Given the description of an element on the screen output the (x, y) to click on. 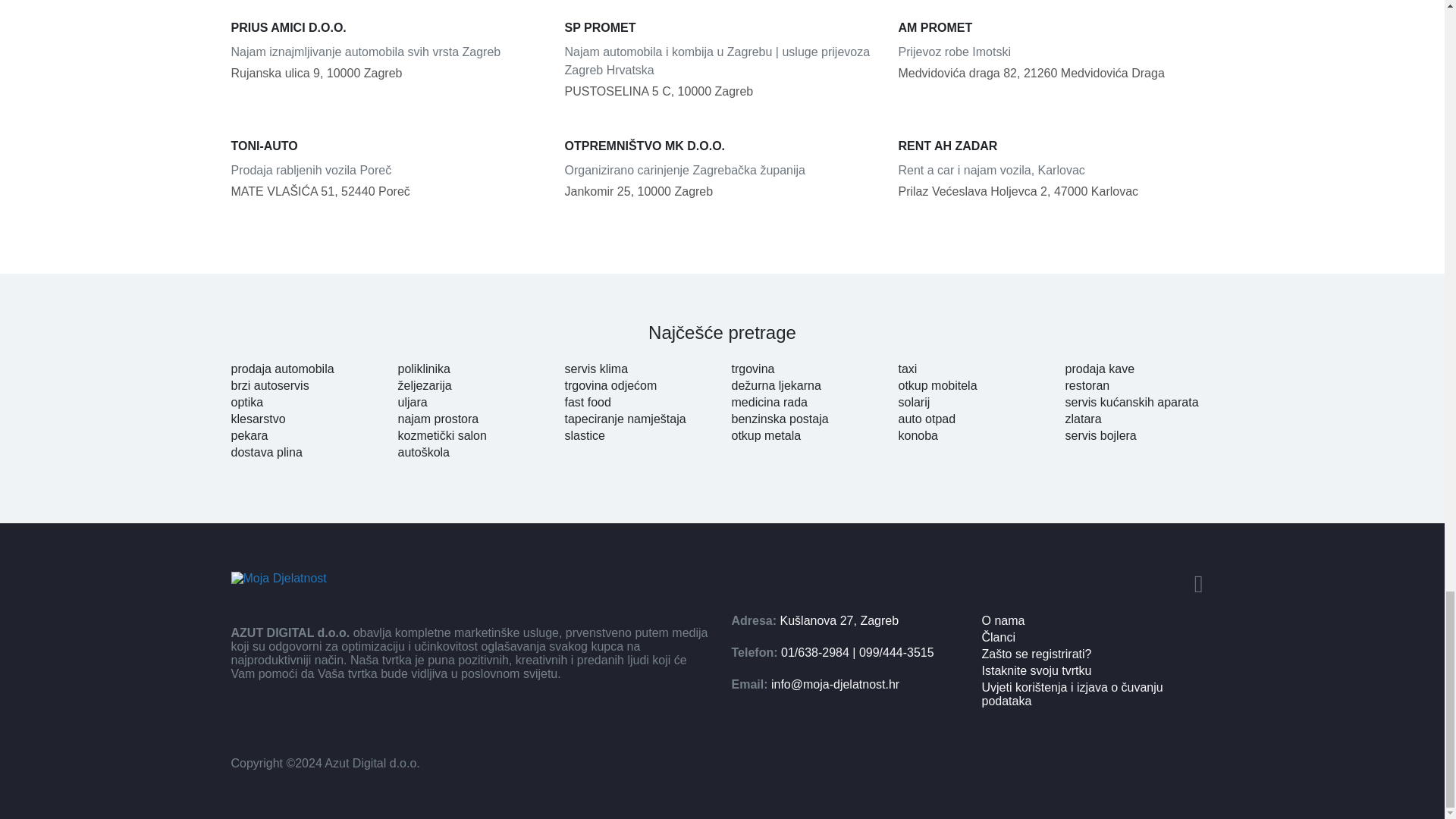
AM PROMET (1055, 27)
SP PROMET (721, 27)
PRIUS AMICI D.O.O. (388, 27)
TONI-AUTO (388, 146)
